Given the description of an element on the screen output the (x, y) to click on. 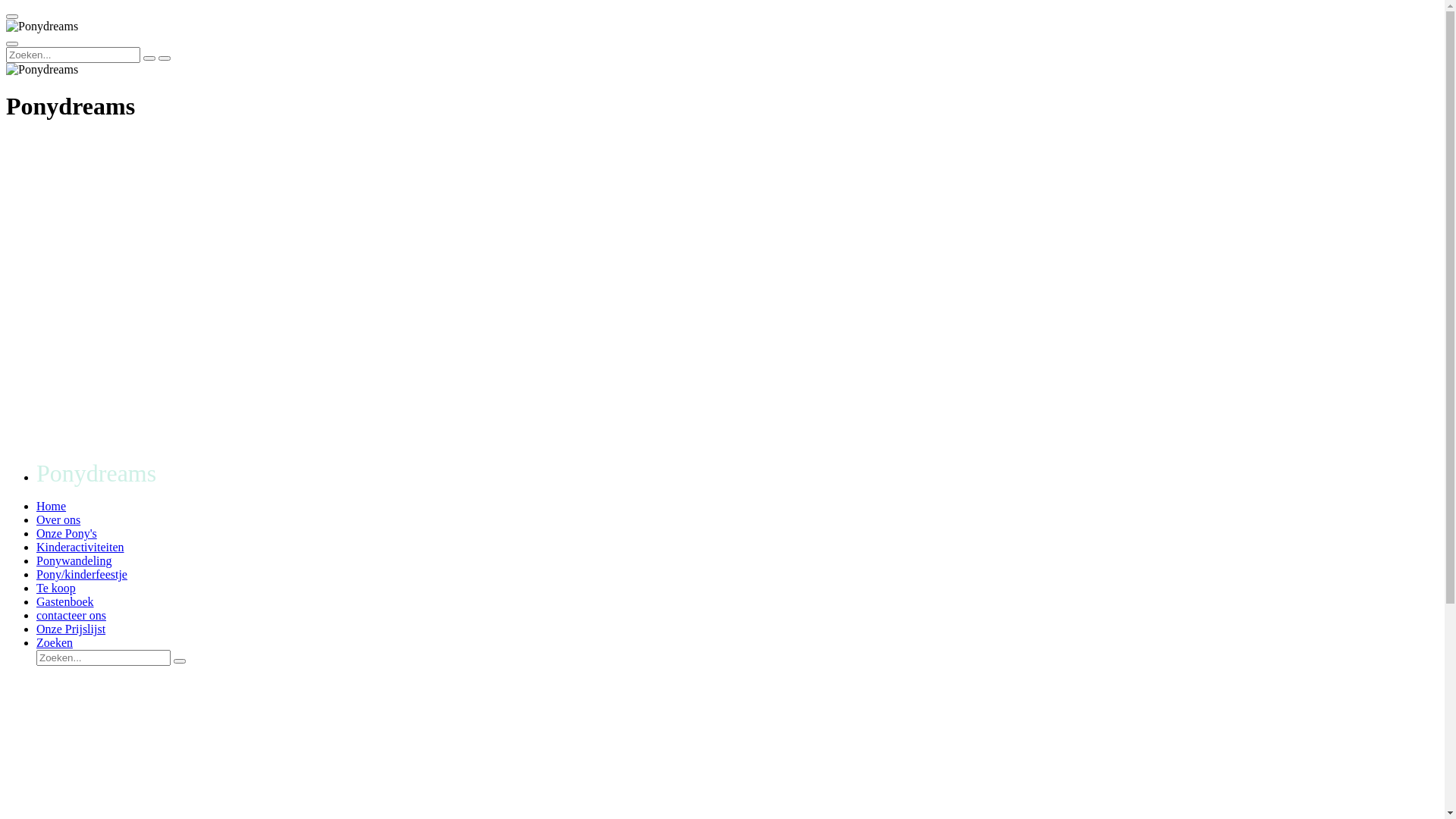
Kinderactiviteiten Element type: text (80, 546)
Home Element type: text (50, 505)
Pony/kinderfeestje Element type: text (81, 573)
Onze Prijslijst Element type: text (70, 628)
Ponydreams Element type: hover (42, 69)
Over ons Element type: text (58, 519)
Ponydreams Element type: hover (42, 26)
Te koop Element type: text (55, 587)
Zoeken Element type: text (54, 642)
contacteer ons Element type: text (71, 614)
Onze Pony's Element type: text (66, 533)
Ponywandeling Element type: text (74, 560)
Gastenboek Element type: text (65, 601)
